Given the description of an element on the screen output the (x, y) to click on. 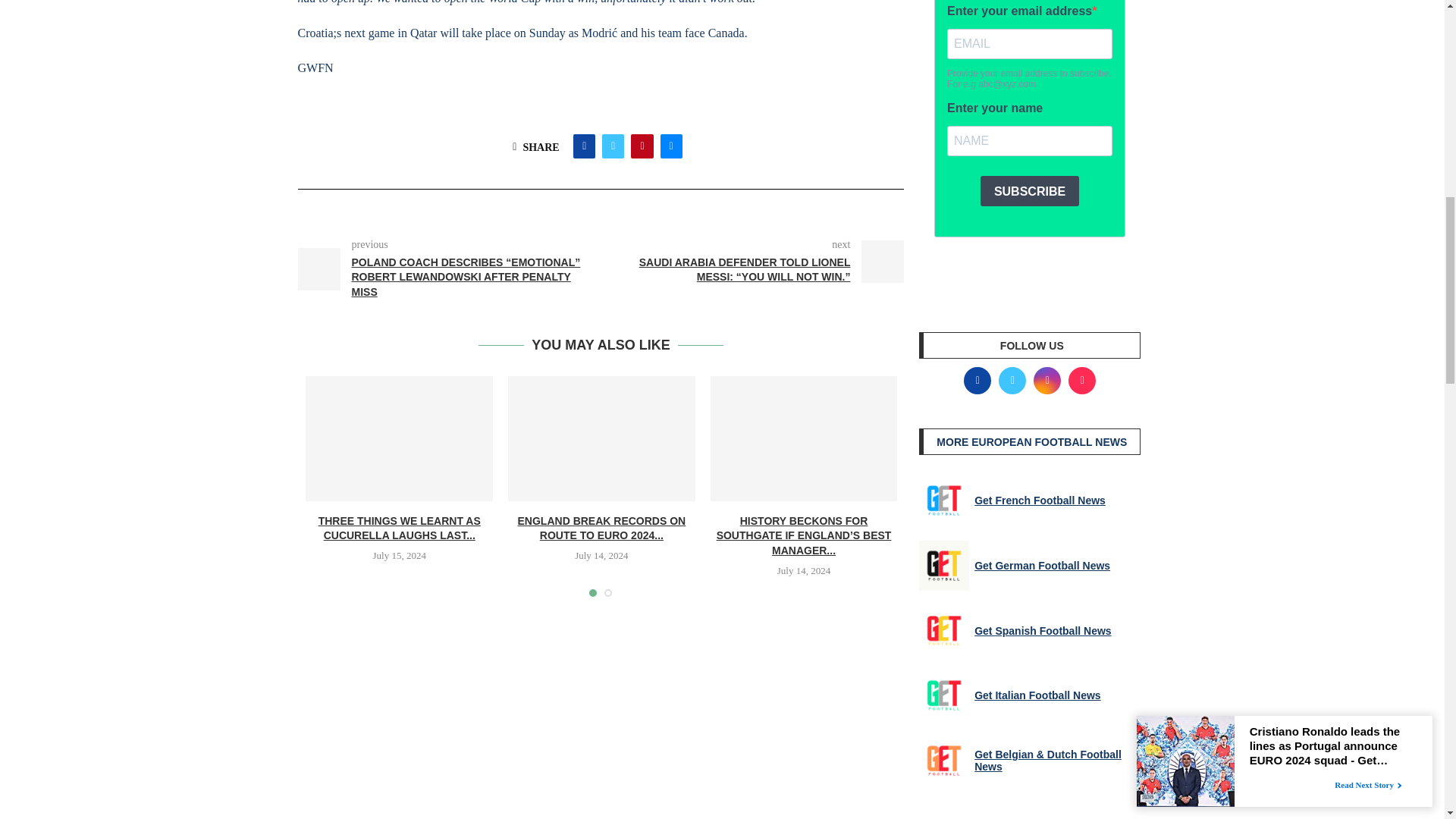
England Break Records on Route to Euro 2024 Final (601, 437)
